Given the description of an element on the screen output the (x, y) to click on. 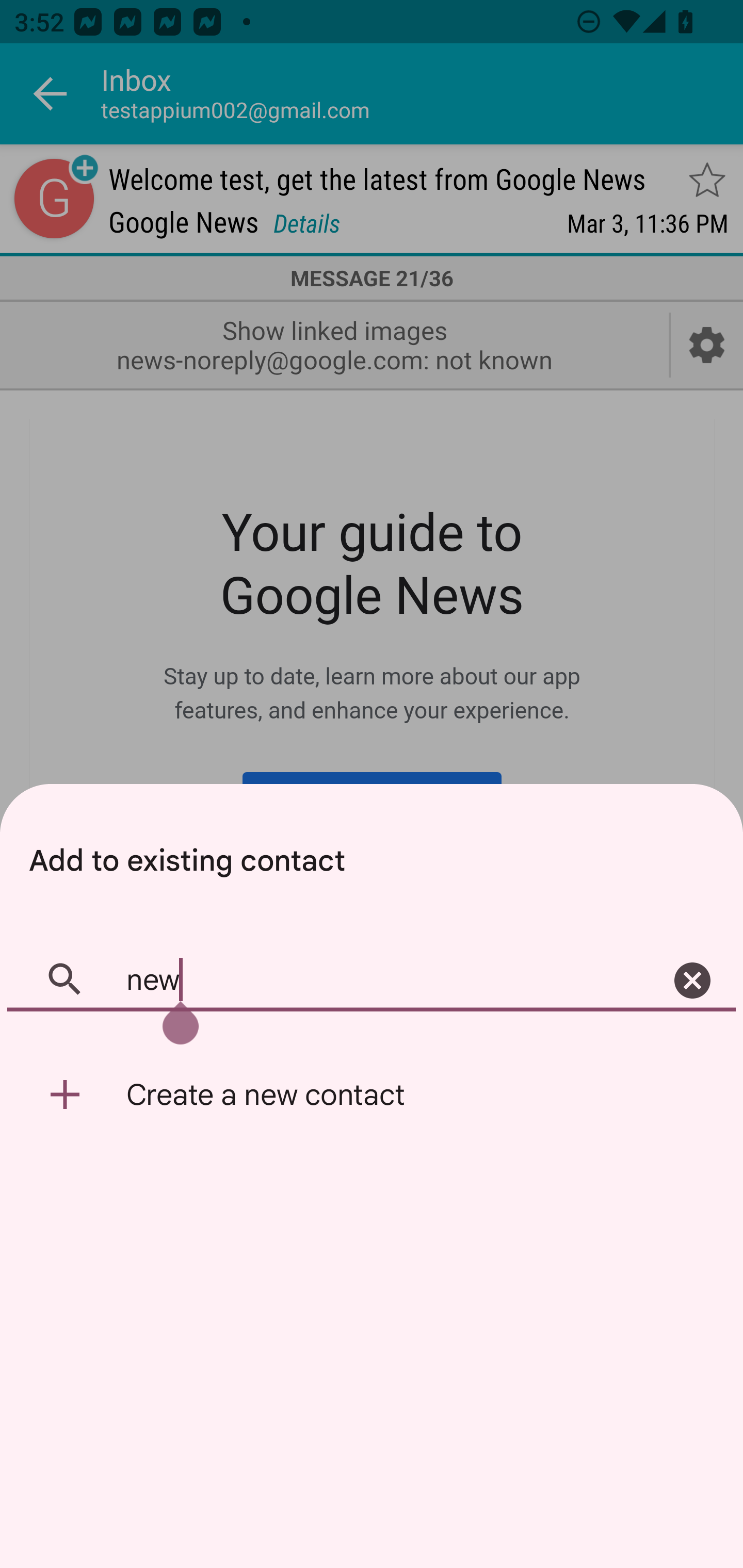
new (371, 980)
Clear search (692, 980)
Create a new contact (371, 1094)
